Given the description of an element on the screen output the (x, y) to click on. 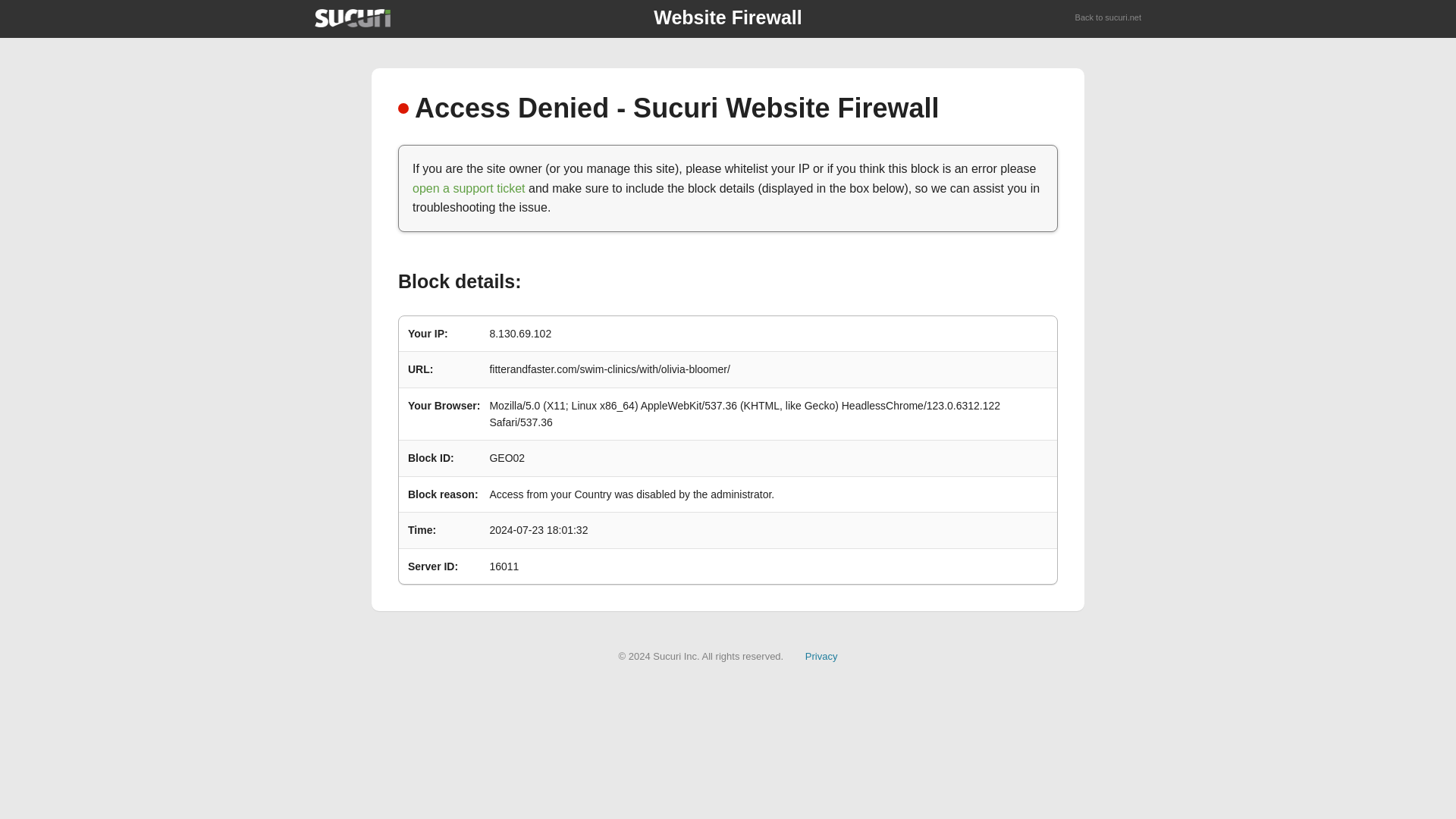
open a support ticket (468, 187)
Privacy (821, 655)
Back to sucuri.net (1108, 18)
